Given the description of an element on the screen output the (x, y) to click on. 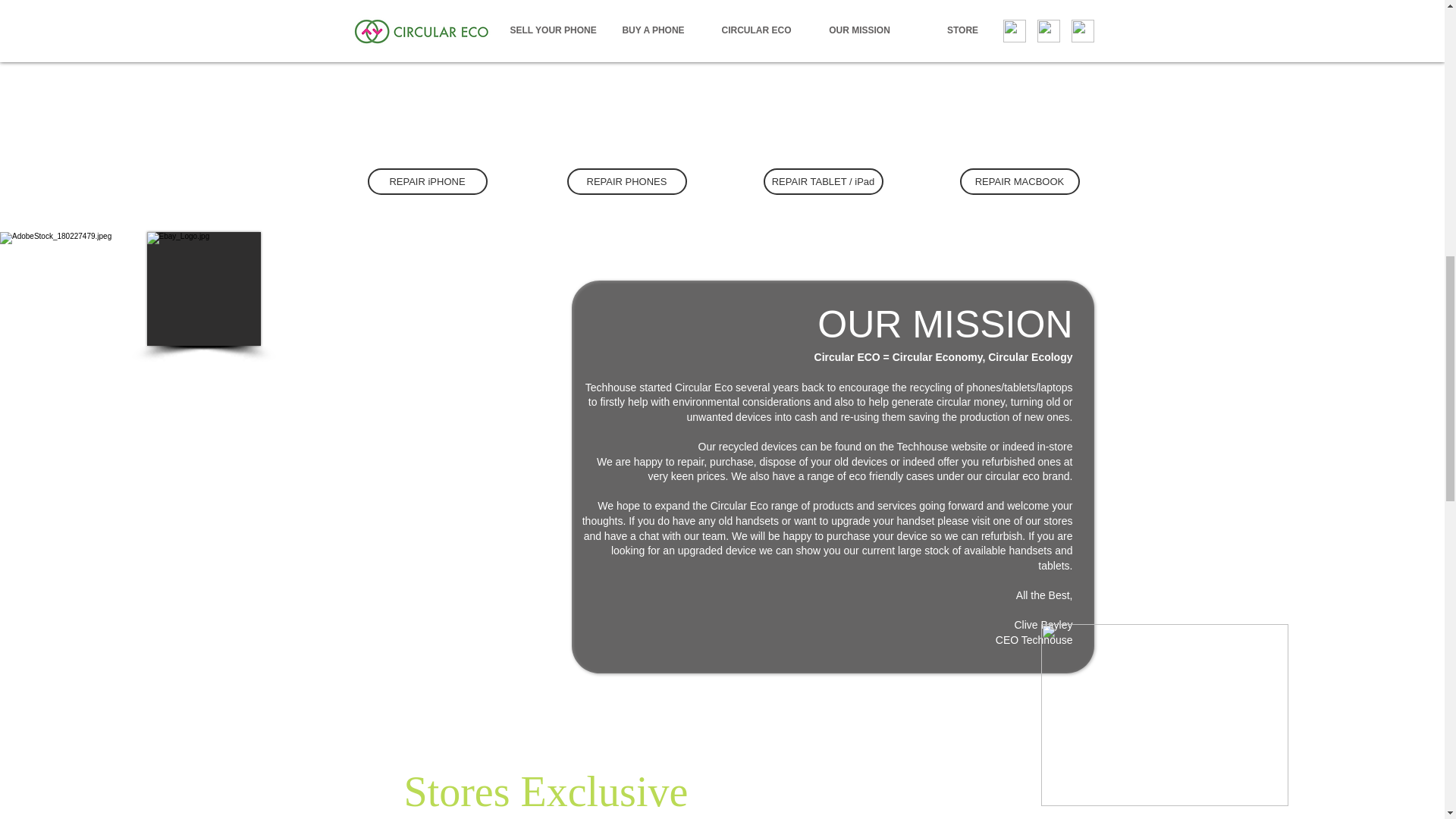
REPAIR iPHONE (426, 181)
REPAIR PHONES (627, 181)
REPAIR MACBOOK (1019, 181)
